Given the description of an element on the screen output the (x, y) to click on. 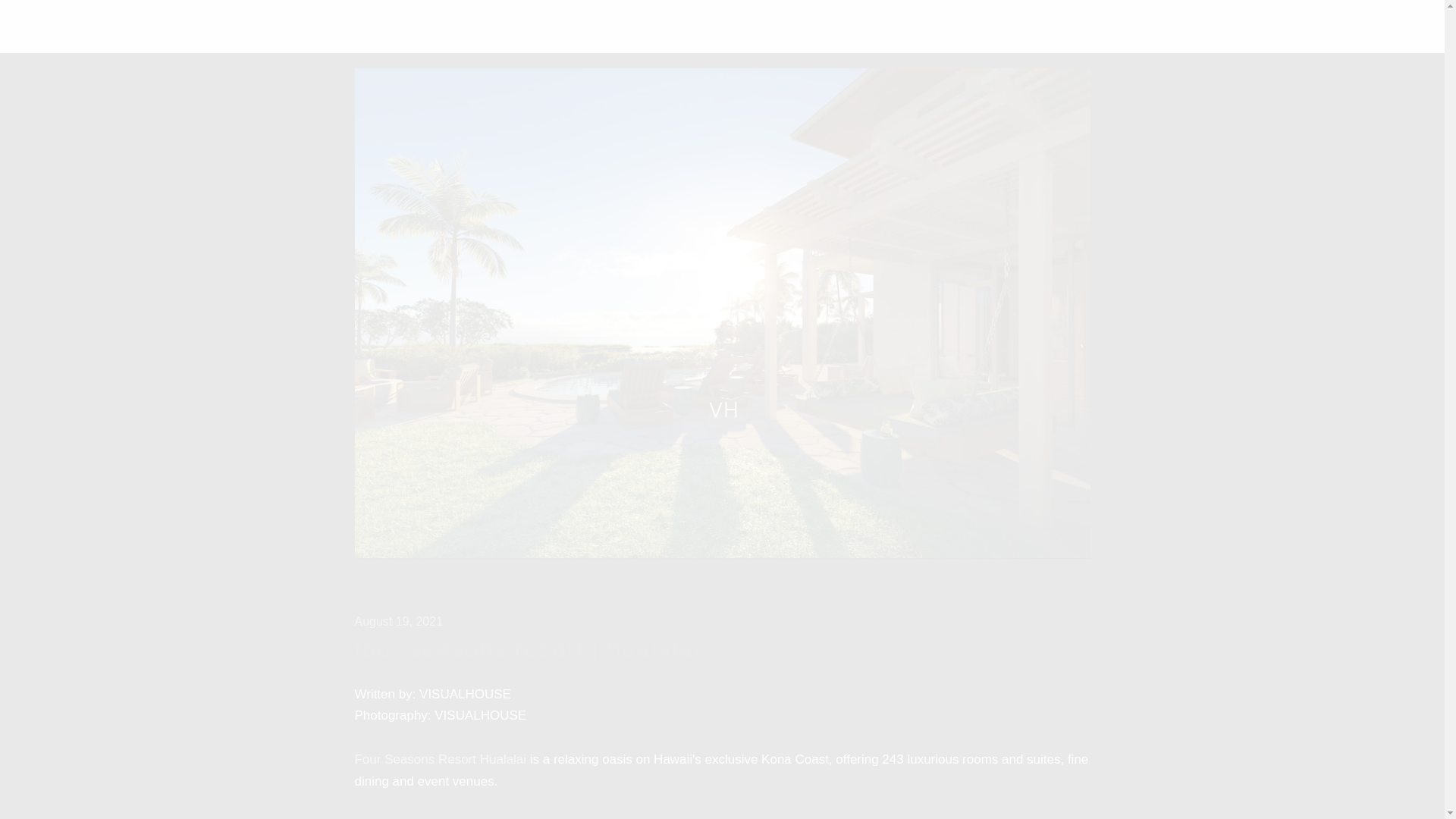
Four Seasons Resort Hualalai (441, 759)
August 19, 2021 (399, 621)
VISUALHOUSE (75, 26)
